Given the description of an element on the screen output the (x, y) to click on. 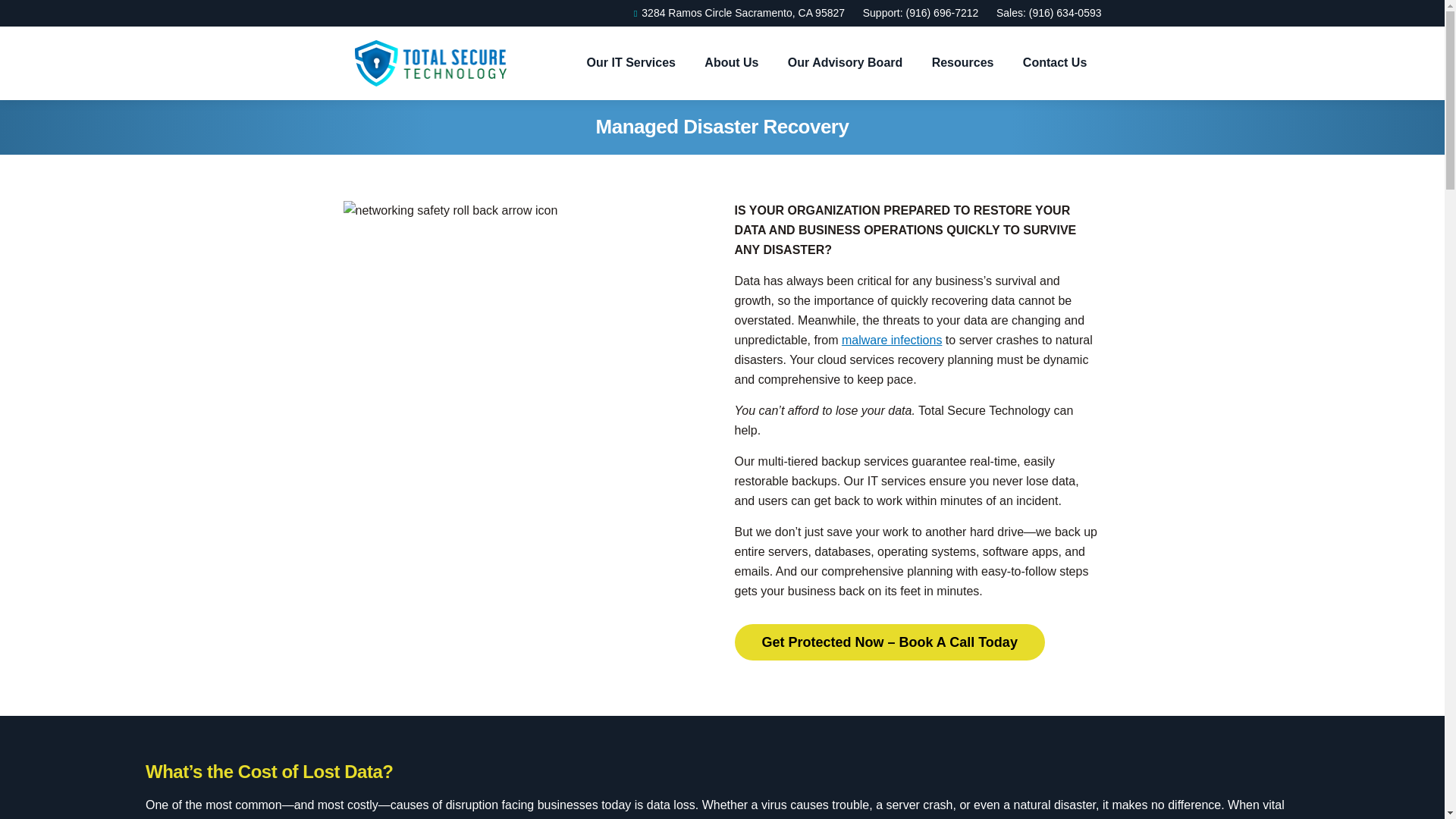
Resources (962, 63)
Our Advisory Board (844, 63)
3284 Ramos Circle Sacramento, CA 95827 (736, 12)
Our IT Services (630, 63)
Contact Us (1054, 63)
About Us (731, 63)
malware infections (891, 339)
